Given the description of an element on the screen output the (x, y) to click on. 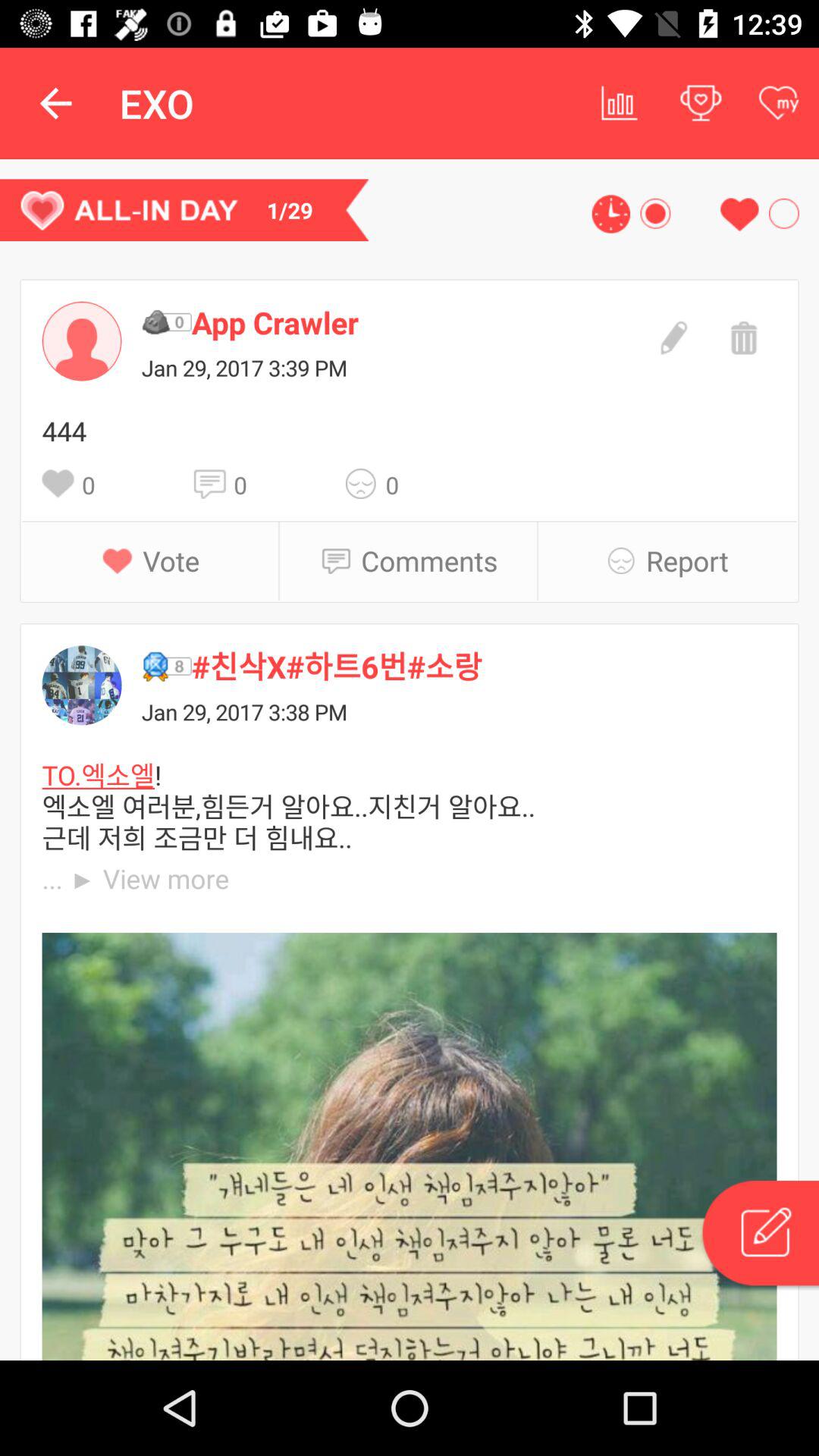
open contacts (81, 341)
